Given the description of an element on the screen output the (x, y) to click on. 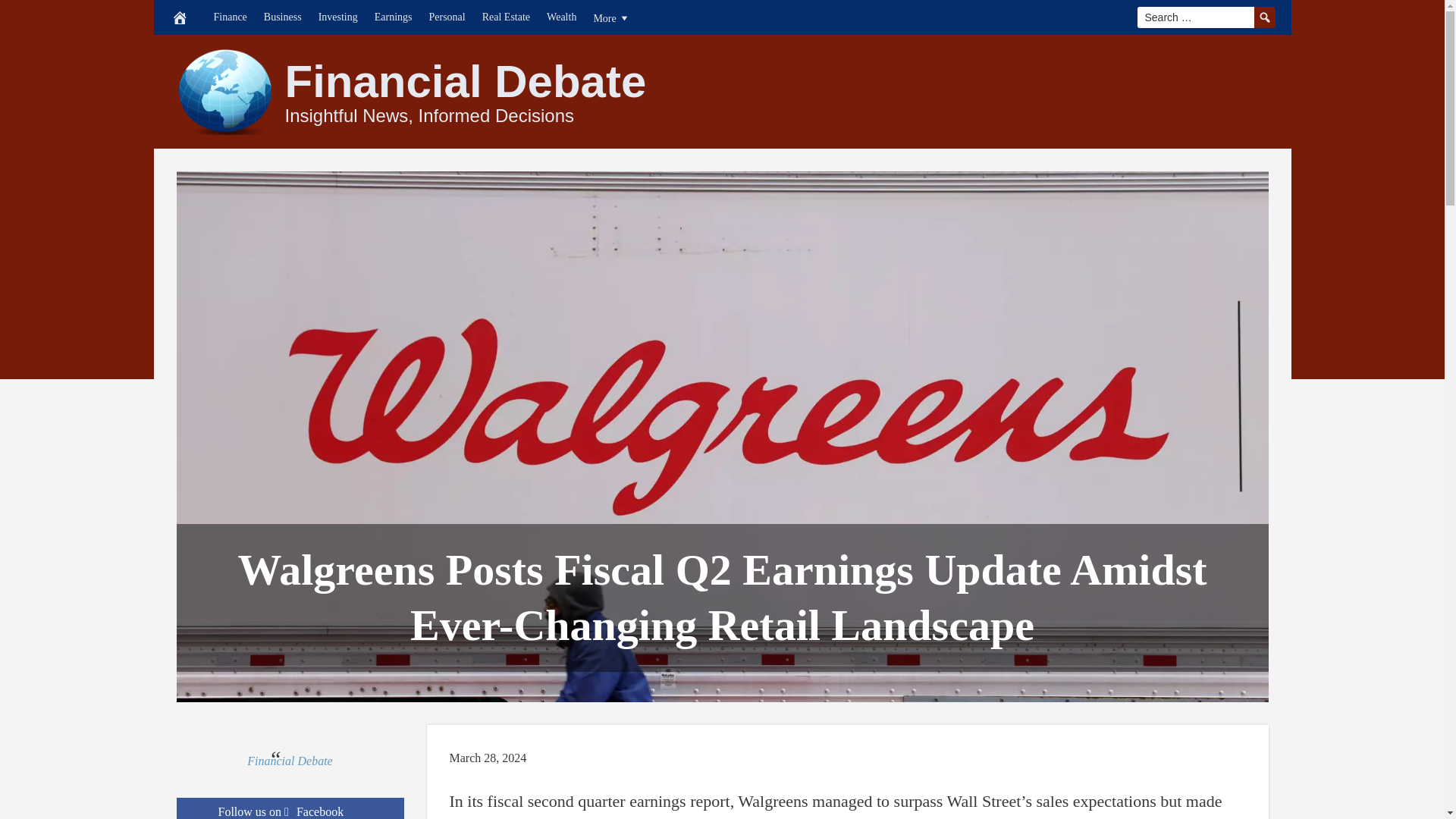
Personal (446, 17)
Investing (338, 17)
More (612, 17)
Business (283, 17)
Wealth (561, 17)
Financial Debate (465, 81)
Real Estate (506, 17)
Finance (229, 17)
Earnings (393, 17)
